Given the description of an element on the screen output the (x, y) to click on. 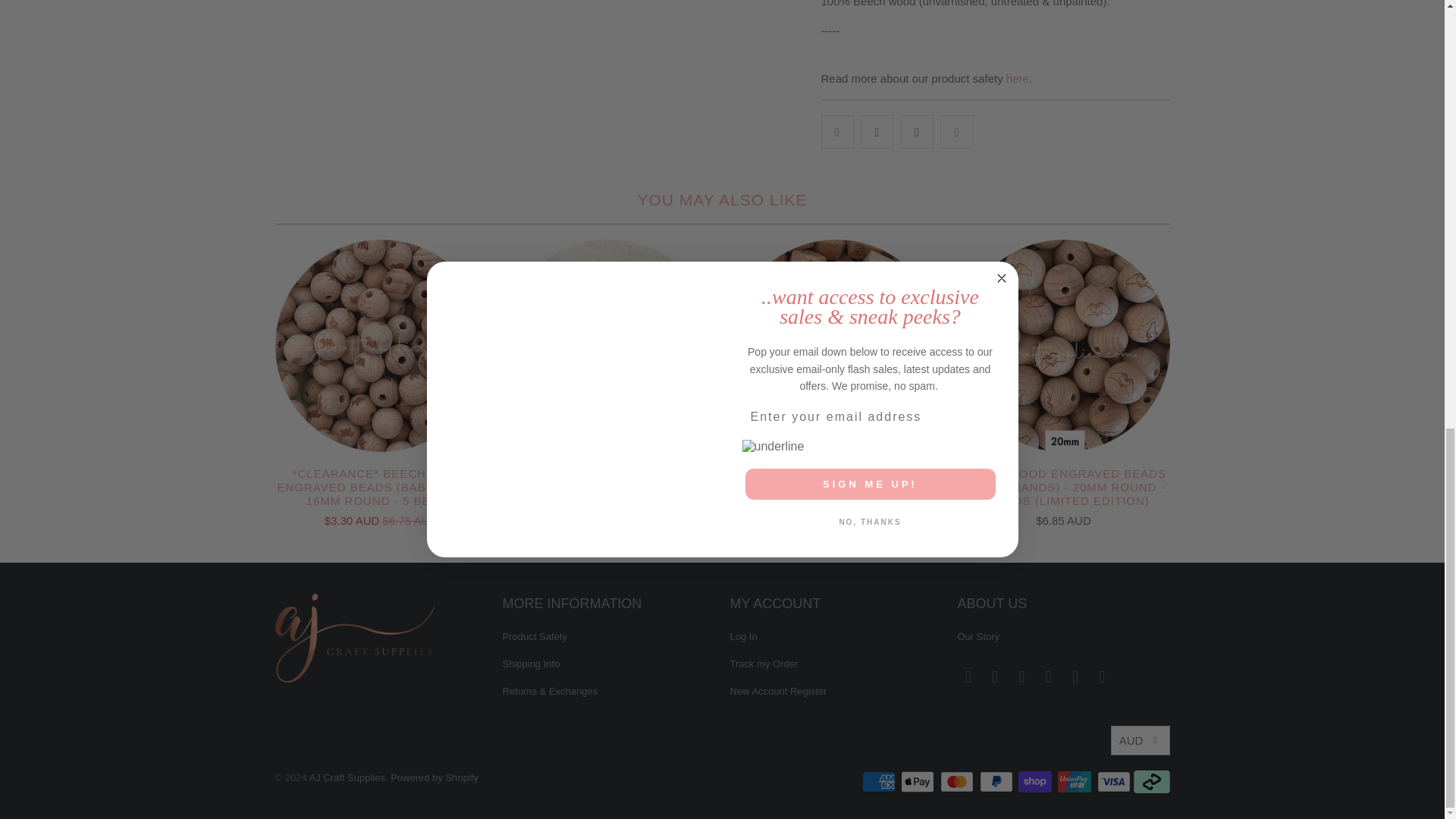
PayPal (997, 781)
Mastercard (958, 781)
here (1017, 78)
Shop Pay (1035, 781)
Union Pay (1076, 781)
Share this on Twitter (837, 131)
Visa (1114, 781)
American Express (879, 781)
Apple Pay (919, 781)
